Given the description of an element on the screen output the (x, y) to click on. 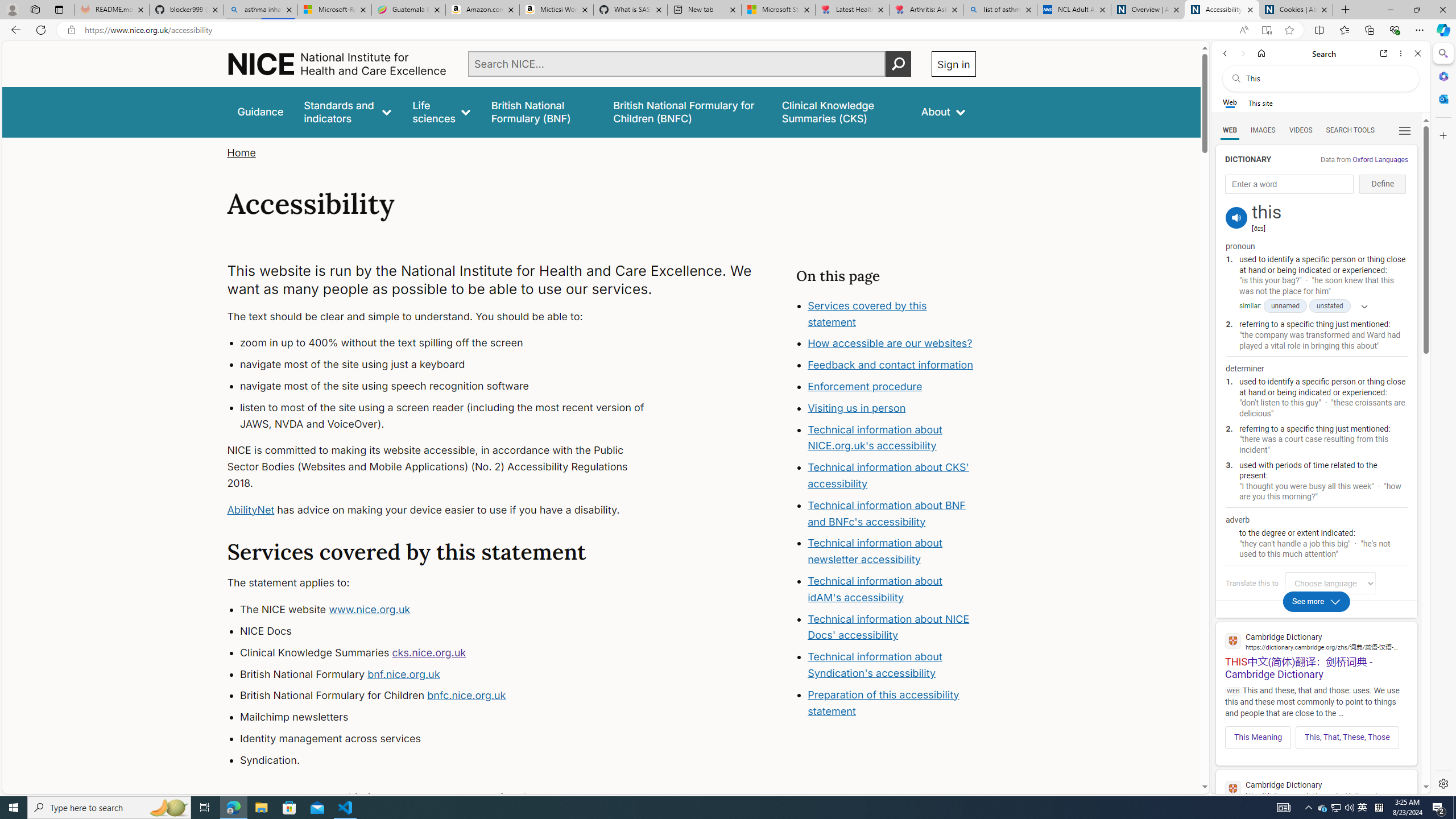
Visiting us in person (856, 407)
www.nice.org.uk (369, 609)
The NICE website www.nice.org.uk (452, 609)
navigate most of the site using speech recognition software (452, 385)
Cambridge Dictionary (1315, 788)
Link for logging (1333, 582)
IMAGES (1262, 130)
cks.nice.org.uk (428, 652)
Technical information about idAM's accessibility (875, 588)
asthma inhaler - Search (260, 9)
